Given the description of an element on the screen output the (x, y) to click on. 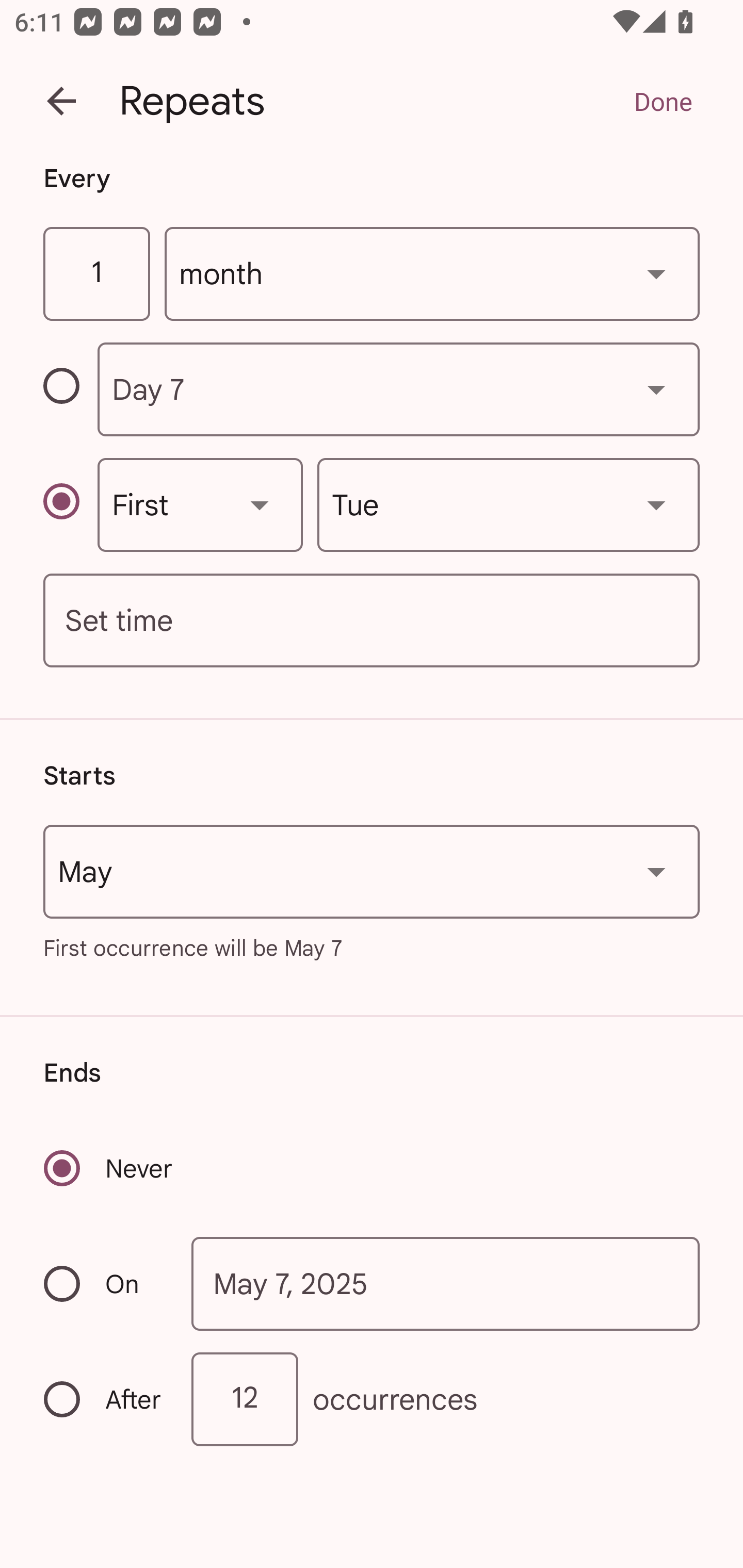
Back (61, 101)
Done (663, 101)
1 (96, 274)
month (431, 274)
Show dropdown menu (655, 273)
Day 7 (398, 388)
Show dropdown menu (655, 389)
Repeat monthly on a specific day of the month (70, 389)
First (200, 504)
Tue (508, 504)
Show dropdown menu (259, 504)
Show dropdown menu (655, 504)
Repeat monthly on a specific weekday (70, 504)
Set time (371, 620)
May (371, 871)
Show dropdown menu (655, 871)
Never Recurrence never ends (109, 1168)
May 7, 2025 (445, 1284)
On Recurrence ends on a specific date (104, 1283)
12 (244, 1398)
